Given the description of an element on the screen output the (x, y) to click on. 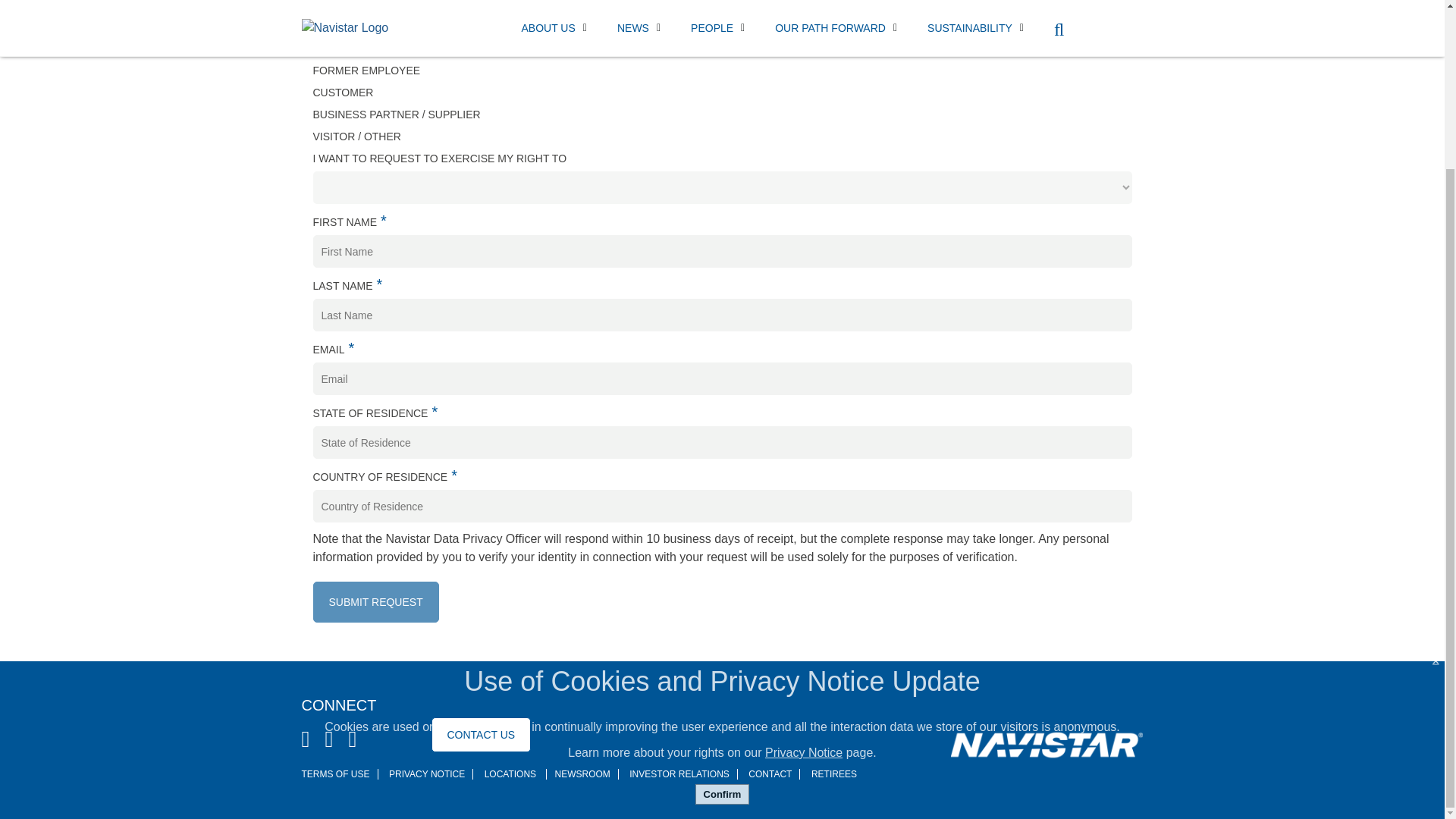
Submit Request (375, 601)
